Given the description of an element on the screen output the (x, y) to click on. 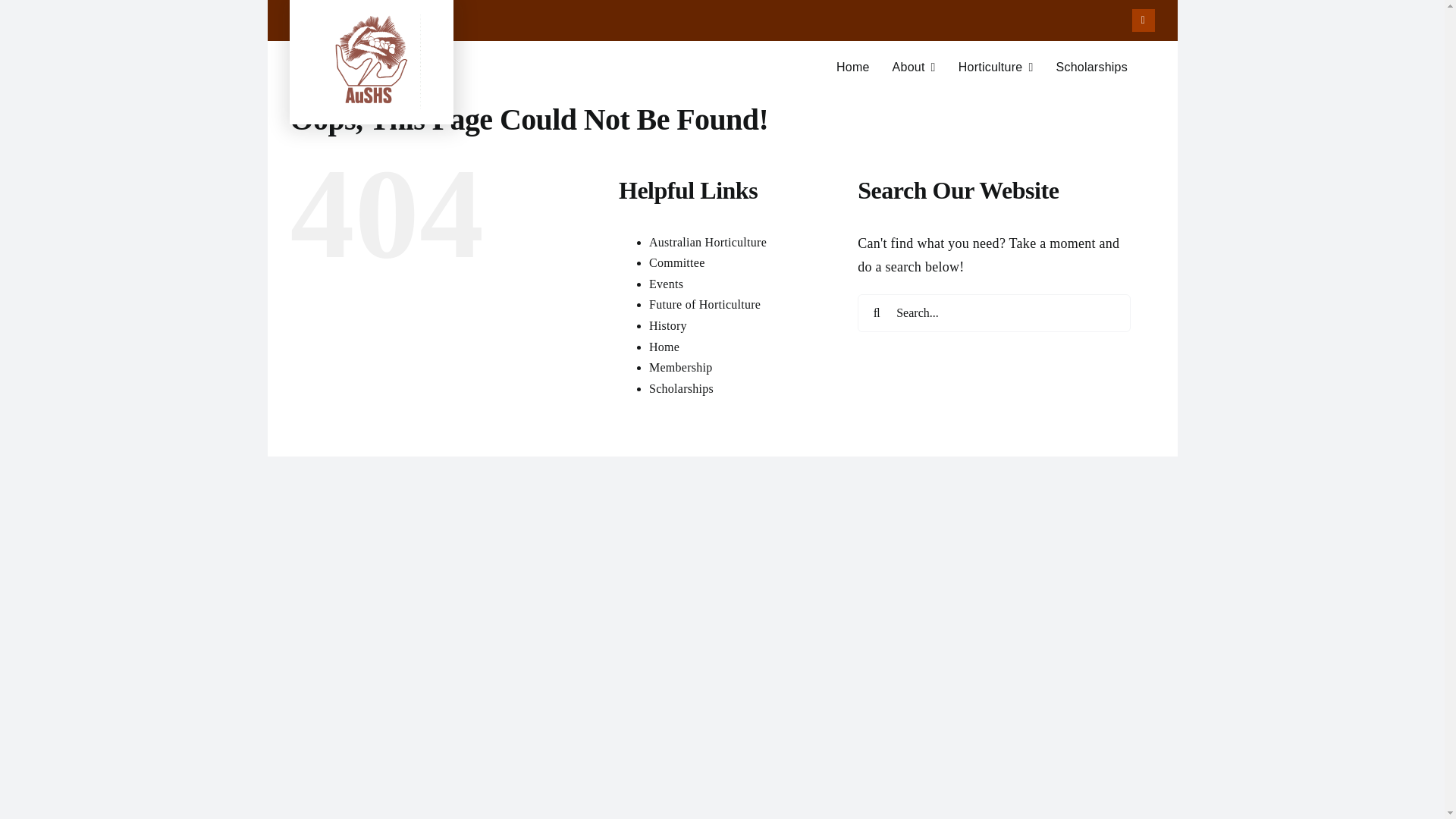
Australian Horticulture (708, 241)
Membership (681, 367)
Scholarships (681, 388)
Committee (676, 262)
Events (665, 283)
History (668, 325)
Horticulture (995, 67)
Scholarships (1090, 67)
Home (664, 345)
Future of Horticulture (721, 74)
